Given the description of an element on the screen output the (x, y) to click on. 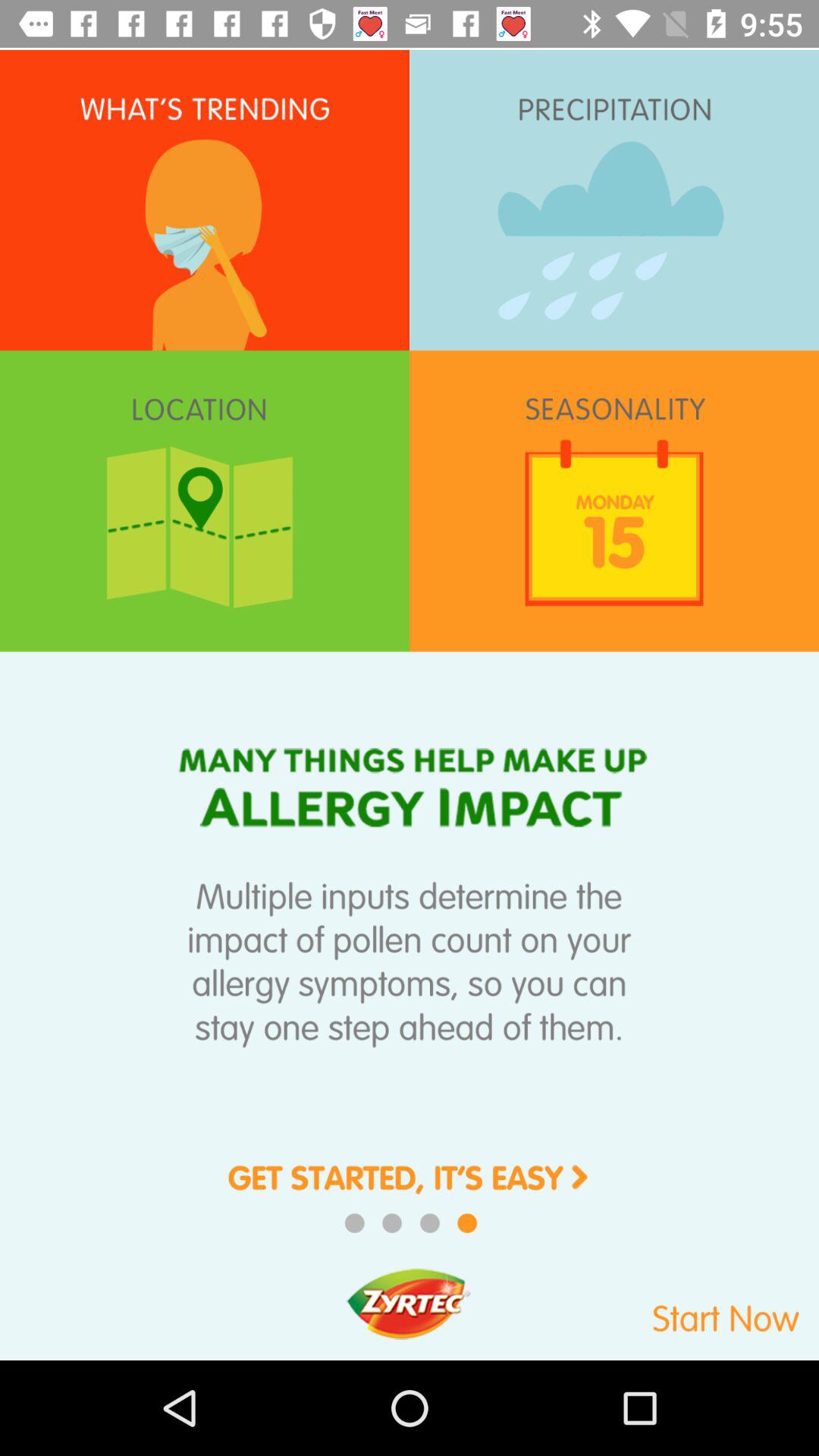
swtich to start now (669, 1310)
